Given the description of an element on the screen output the (x, y) to click on. 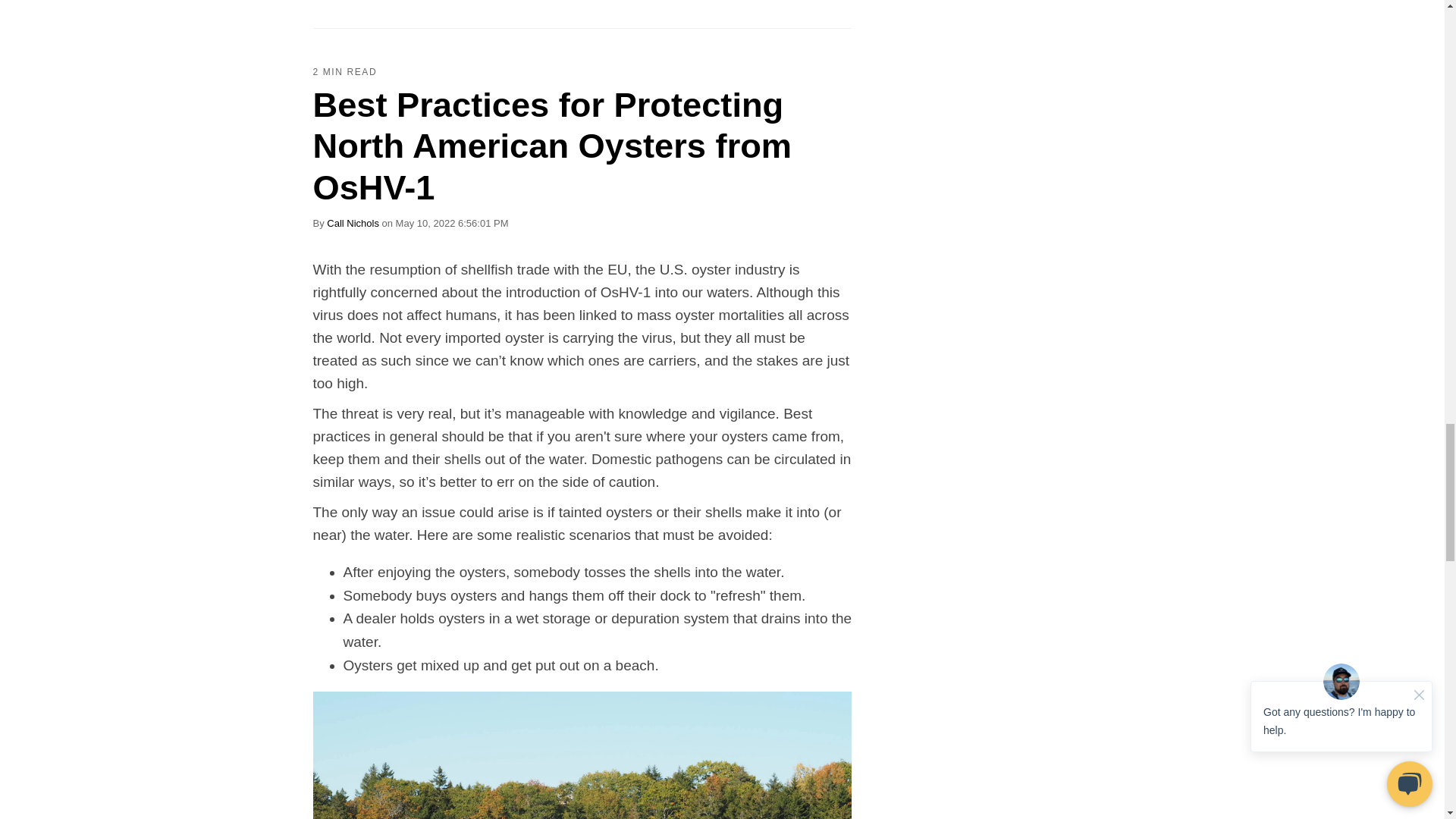
Call Nichols (352, 223)
